Given the description of an element on the screen output the (x, y) to click on. 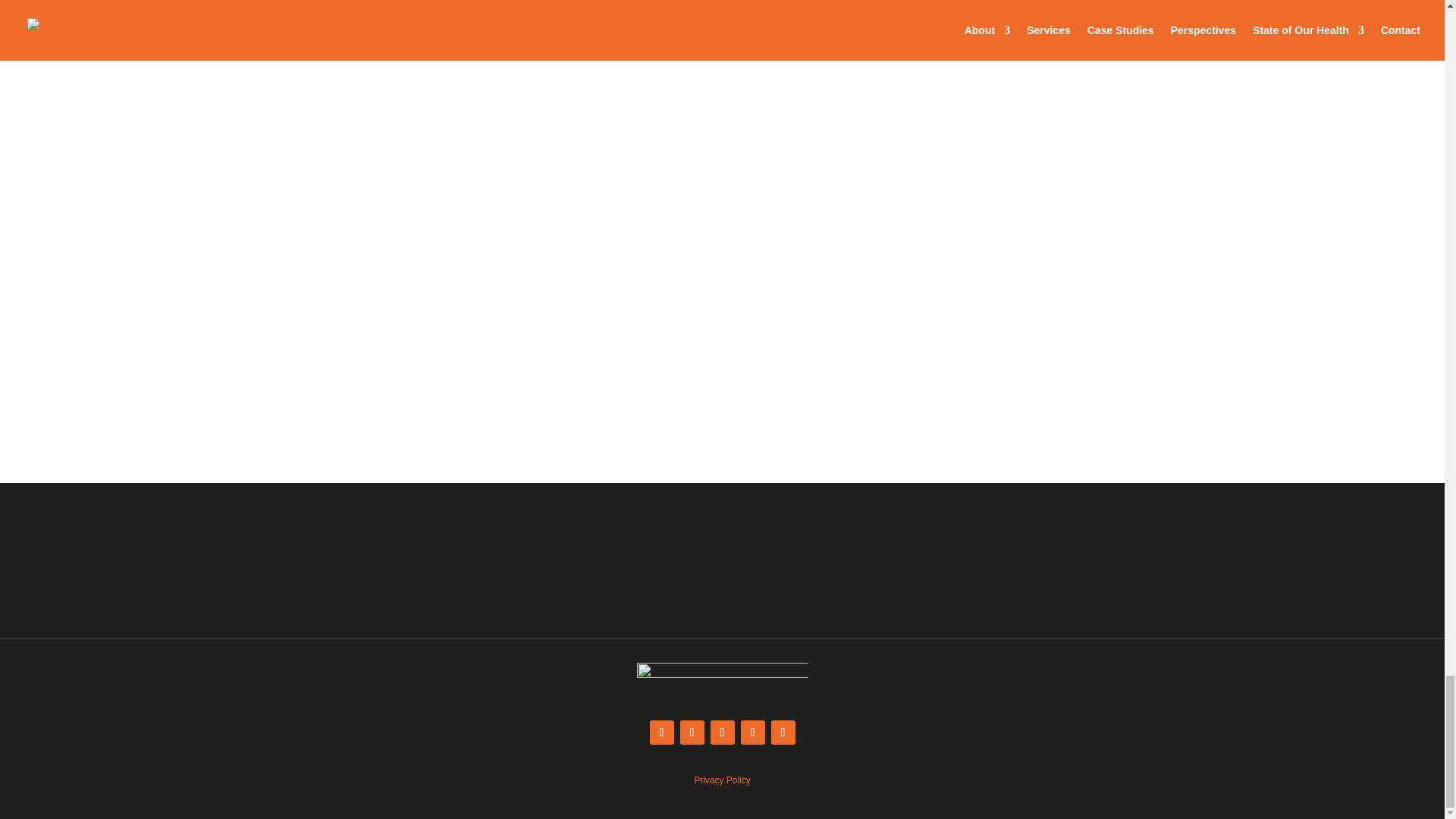
Follow on X (660, 732)
Privacy Policy (722, 779)
Follow on Facebook (691, 732)
Follow on LinkedIn (721, 732)
Follow on Youtube (751, 732)
Follow on Instagram (782, 732)
